Given the description of an element on the screen output the (x, y) to click on. 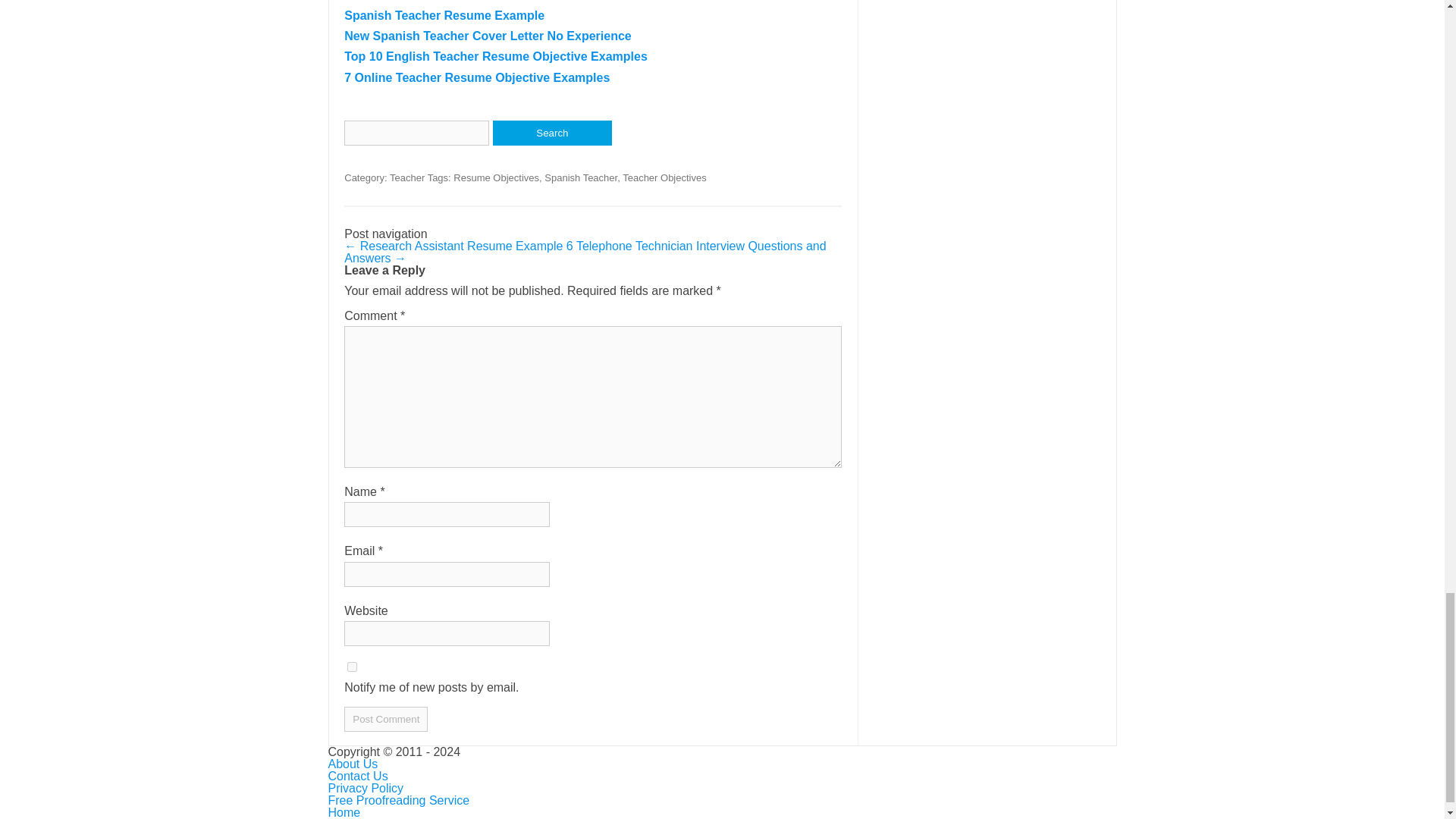
Top 10 English Teacher Resume Objective Examples (495, 56)
New Spanish Teacher Cover Letter No Experience (487, 35)
Search (552, 132)
Post Comment (385, 719)
Teacher Objectives (664, 177)
subscribe (351, 666)
Free Proofreading Service (397, 799)
Top 10 English Teacher Resume Objective Examples (495, 56)
Privacy Policy (365, 788)
About Us (352, 763)
